Given the description of an element on the screen output the (x, y) to click on. 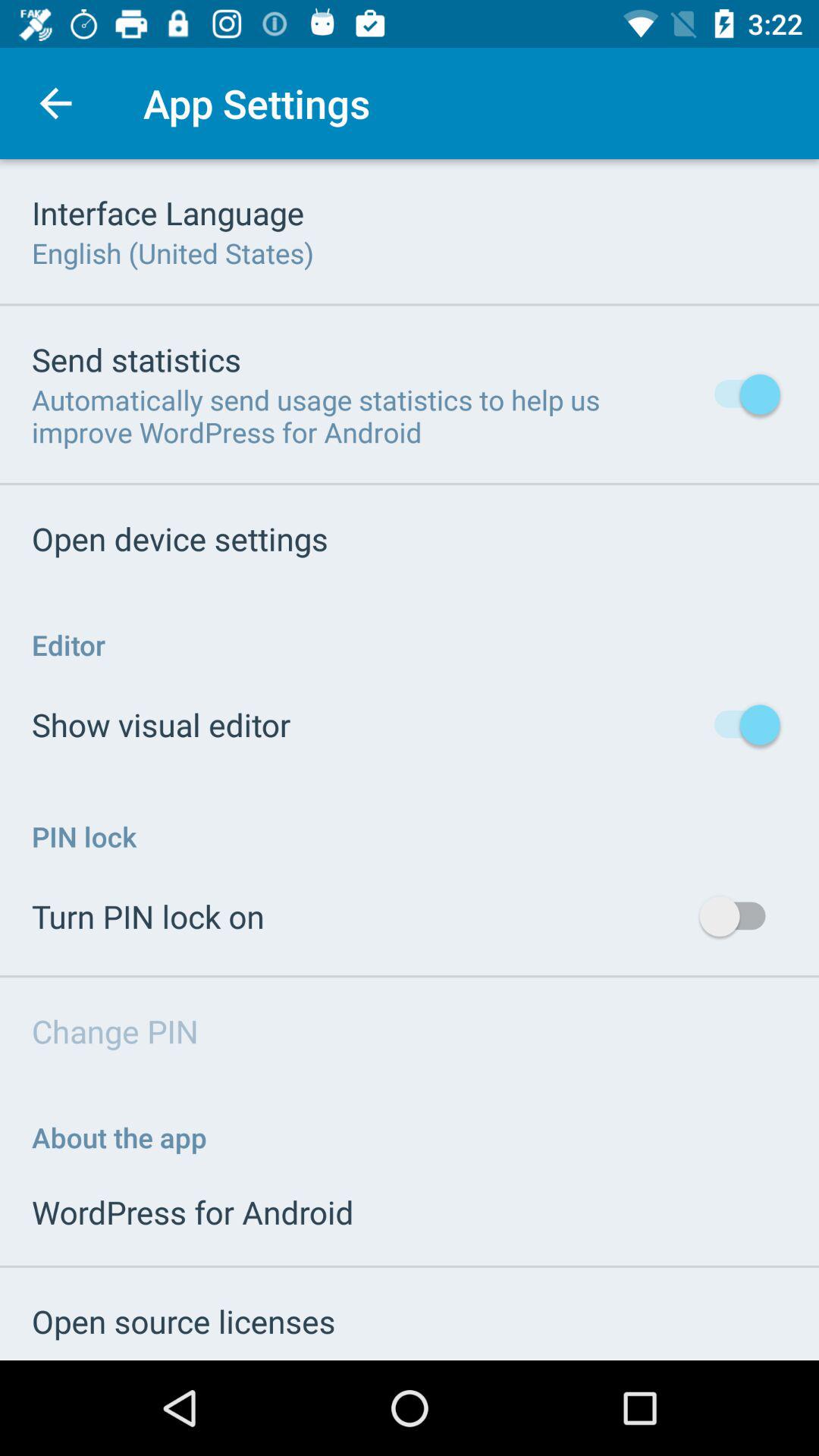
turn on item above wordpress for android item (119, 1137)
